Given the description of an element on the screen output the (x, y) to click on. 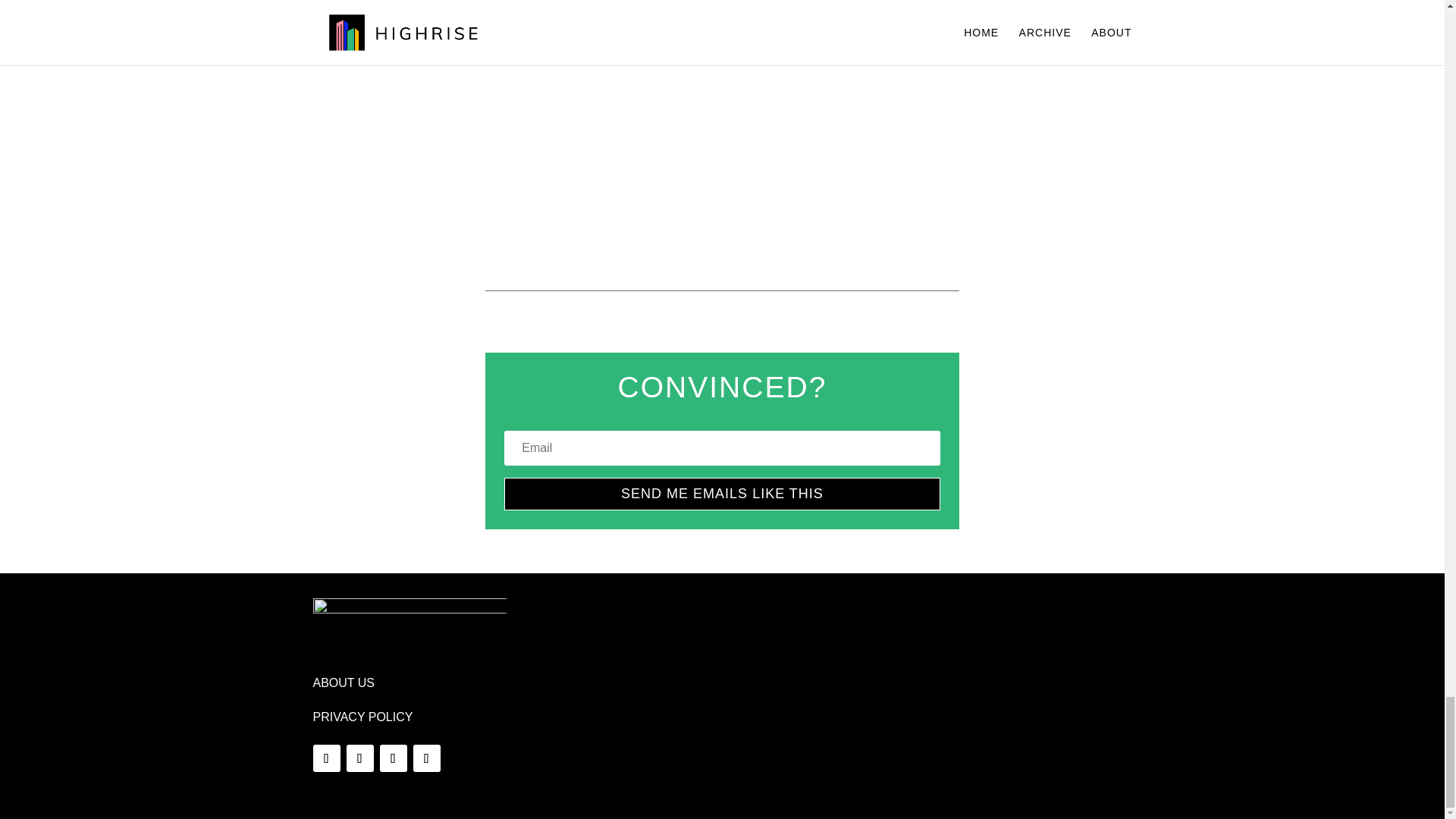
PRIVACY POLICY (362, 716)
Follow on X (359, 758)
Follow on Instagram (425, 758)
SEND ME EMAILS LIKE THIS (721, 493)
Follow on LinkedIn (392, 758)
Follow on Facebook (326, 758)
Highrise-Logo-white (409, 631)
